Given the description of an element on the screen output the (x, y) to click on. 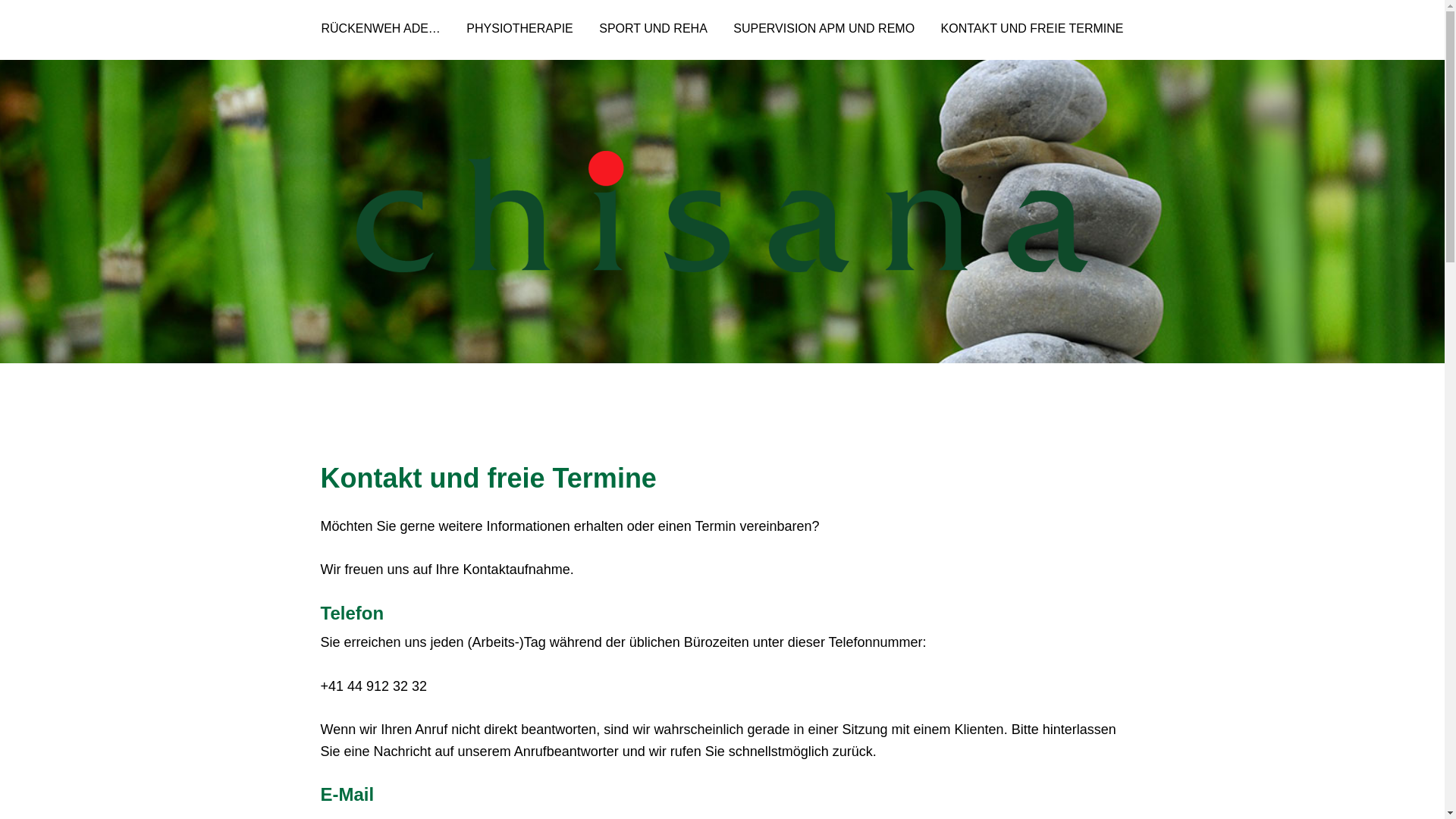
CHISANA PRAXIS Element type: text (722, 211)
KONTAKT UND FREIE TERMINE Element type: text (1032, 22)
PHYSIOTHERAPIE Element type: text (519, 22)
SPORT UND REHA Element type: text (652, 22)
SUPERVISION APM UND REMO Element type: text (823, 22)
Zur Hauptnavigation springen Element type: text (0, 0)
